Given the description of an element on the screen output the (x, y) to click on. 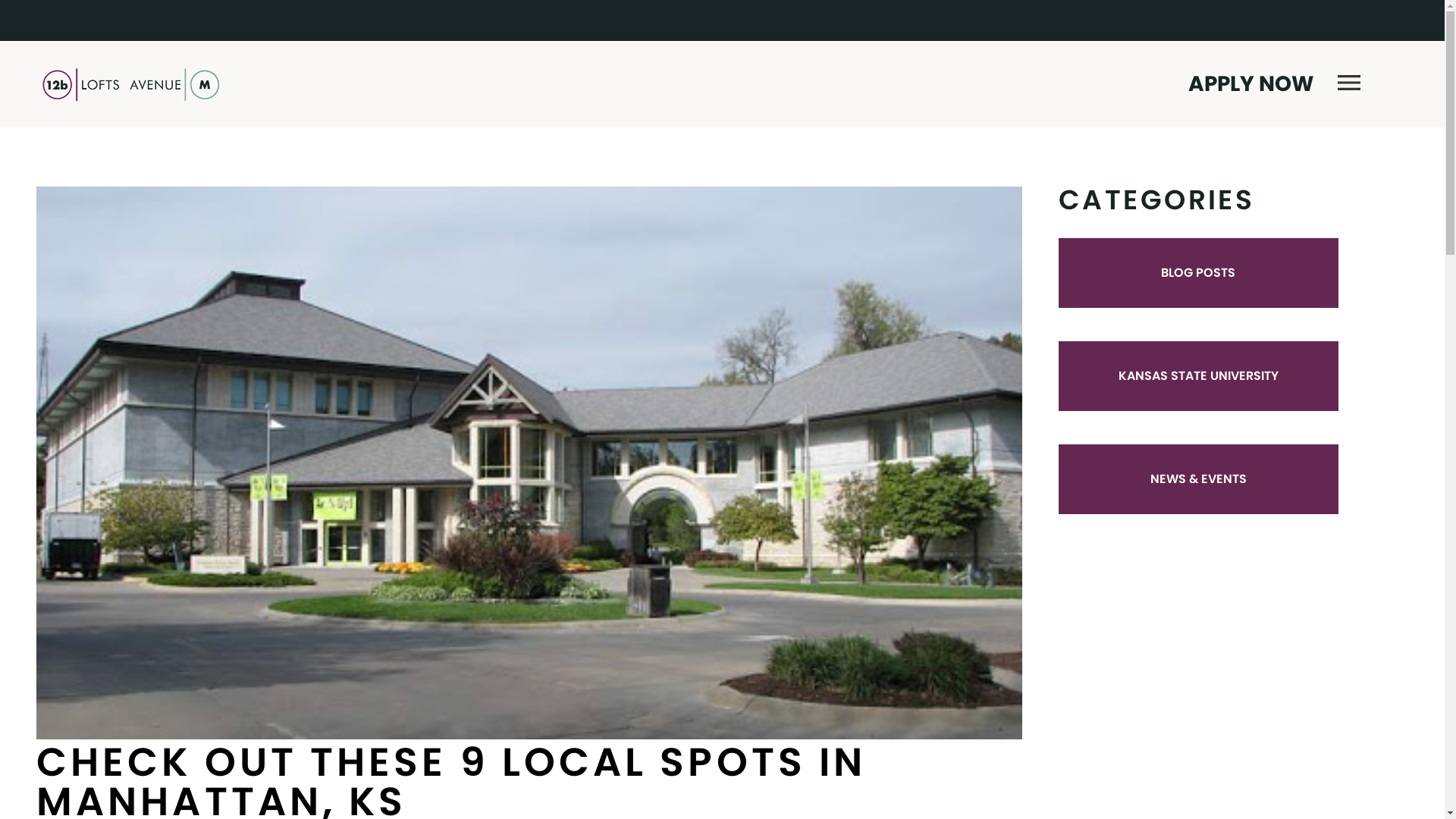
BLOG POSTS Element type: text (1198, 272)
NEWS & EVENTS Element type: text (1198, 478)
APPLY NOW Element type: text (1250, 84)
Primary Menu Element type: text (1348, 83)
KANSAS STATE UNIVERSITY Element type: text (1198, 375)
